Given the description of an element on the screen output the (x, y) to click on. 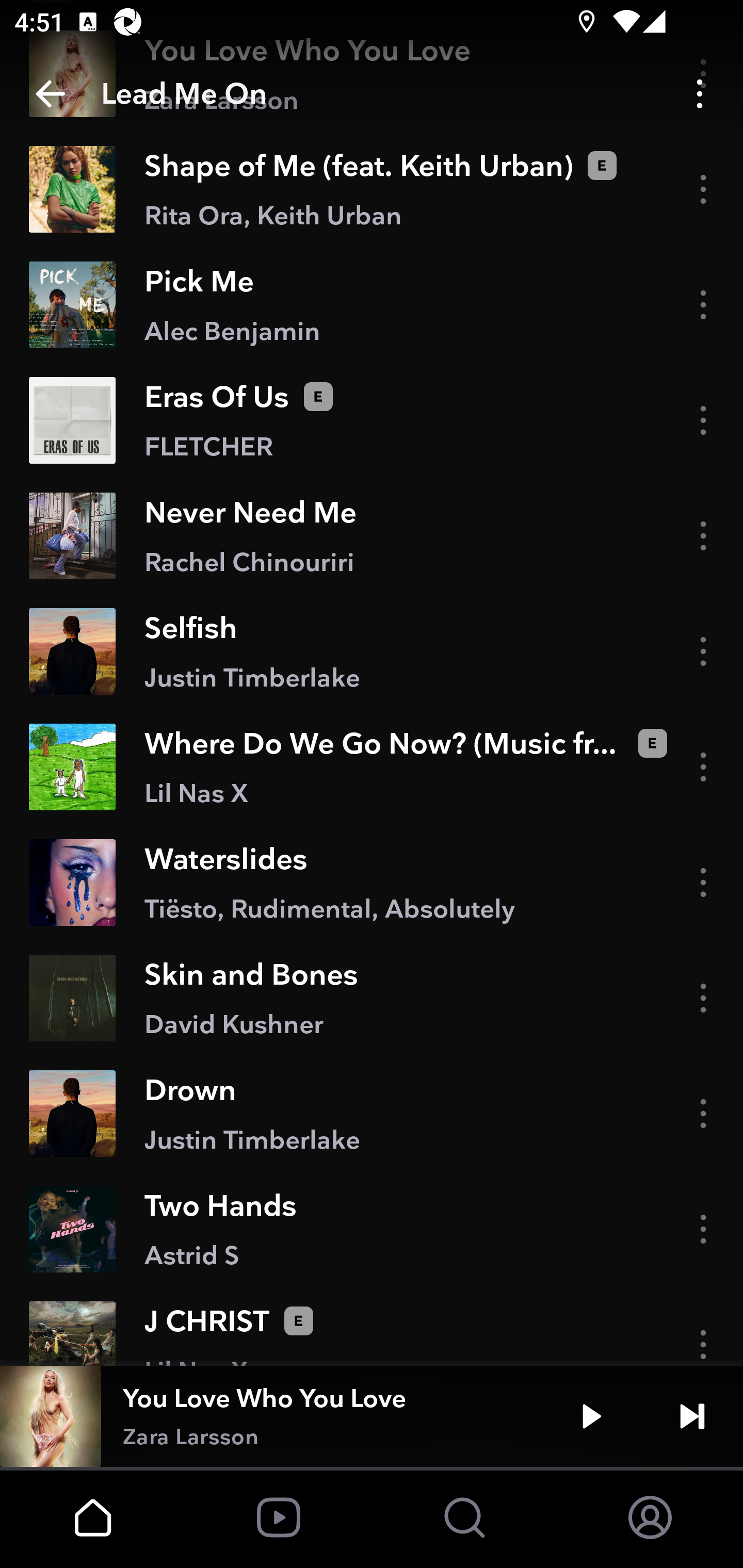
Options (699, 93)
Pick Me Alec Benjamin (371, 304)
Eras Of Us FLETCHER (371, 420)
Never Need Me Rachel Chinouriri (371, 536)
Selfish Justin Timberlake (371, 651)
Waterslides Tiësto, Rudimental, Absolutely (371, 882)
Skin and Bones David Kushner (371, 997)
Drown Justin Timberlake (371, 1113)
Two Hands Astrid S (371, 1229)
J CHRIST Lil Nas X (371, 1326)
You Love Who You Love Zara Larsson Play (371, 1416)
Play (590, 1416)
